Given the description of an element on the screen output the (x, y) to click on. 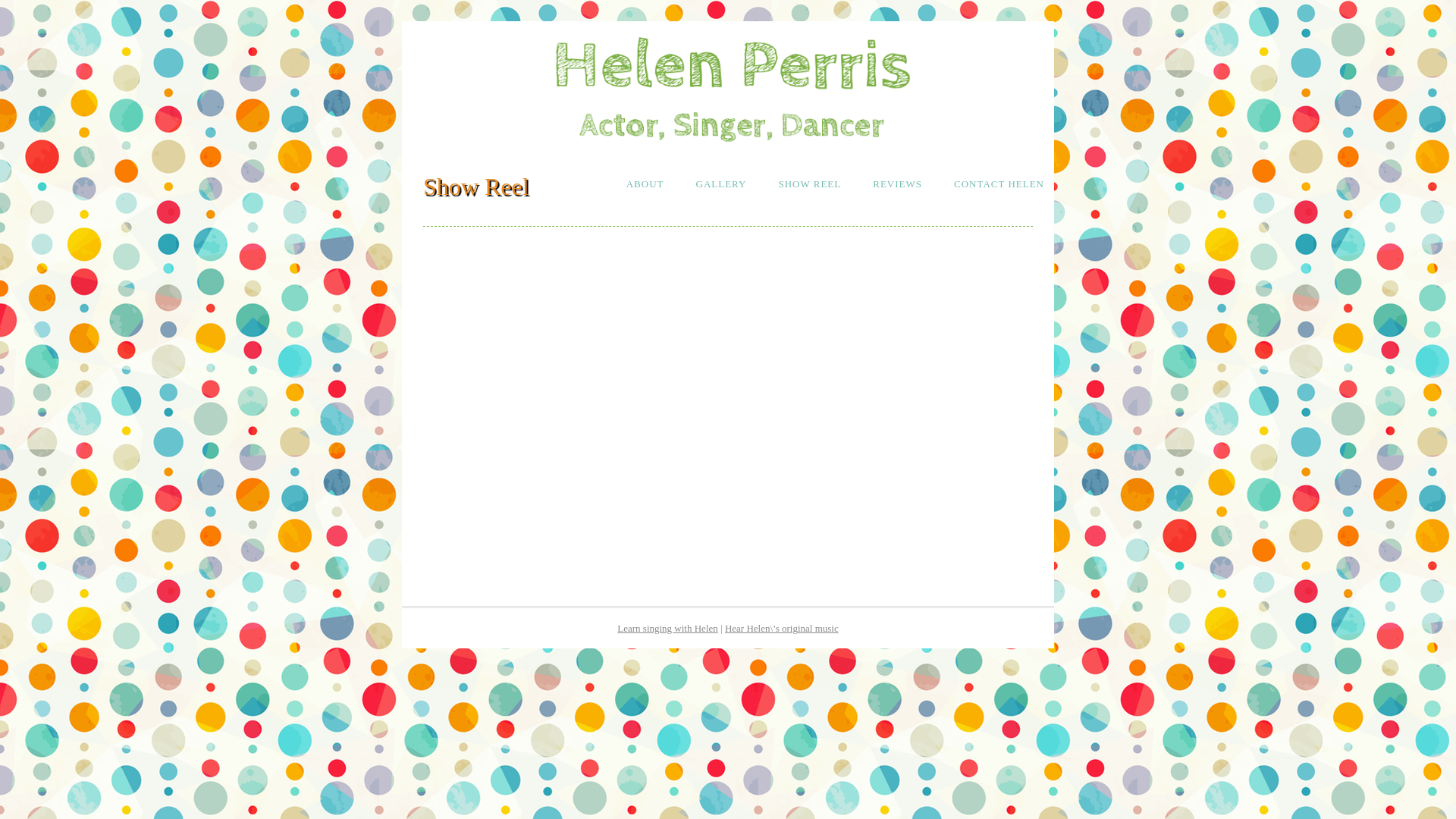
GALLERY Element type: text (720, 183)
Show Reel Element type: text (476, 186)
Learn singing with Helen Element type: text (667, 627)
SHOW REEL Element type: text (809, 183)
REVIEWS Element type: text (896, 183)
ABOUT Element type: text (645, 183)
CONTACT HELEN Element type: text (999, 183)
